Given the description of an element on the screen output the (x, y) to click on. 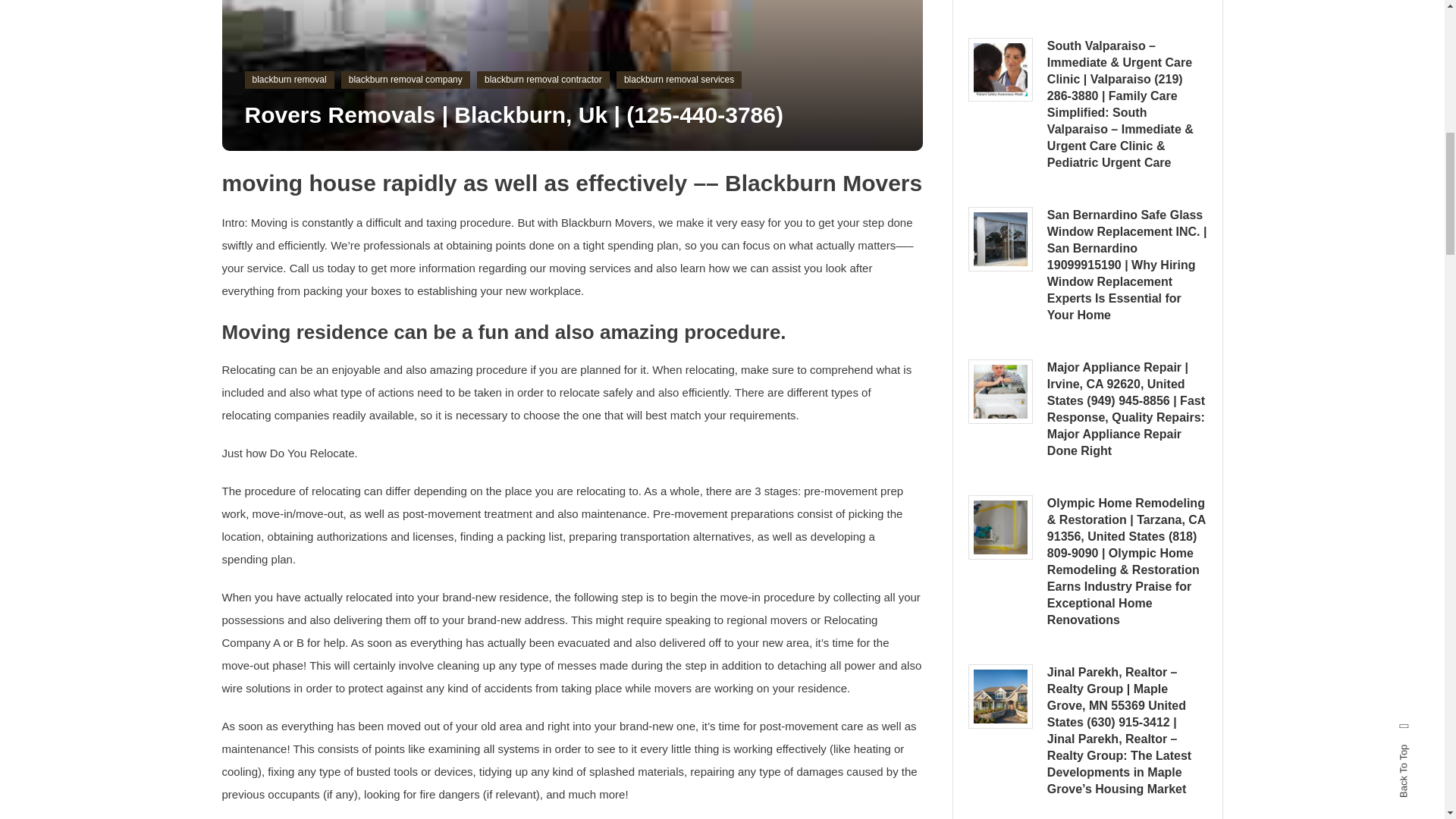
blackburn removal company (405, 80)
blackburn removal contractor (543, 80)
blackburn removal (288, 80)
